Given the description of an element on the screen output the (x, y) to click on. 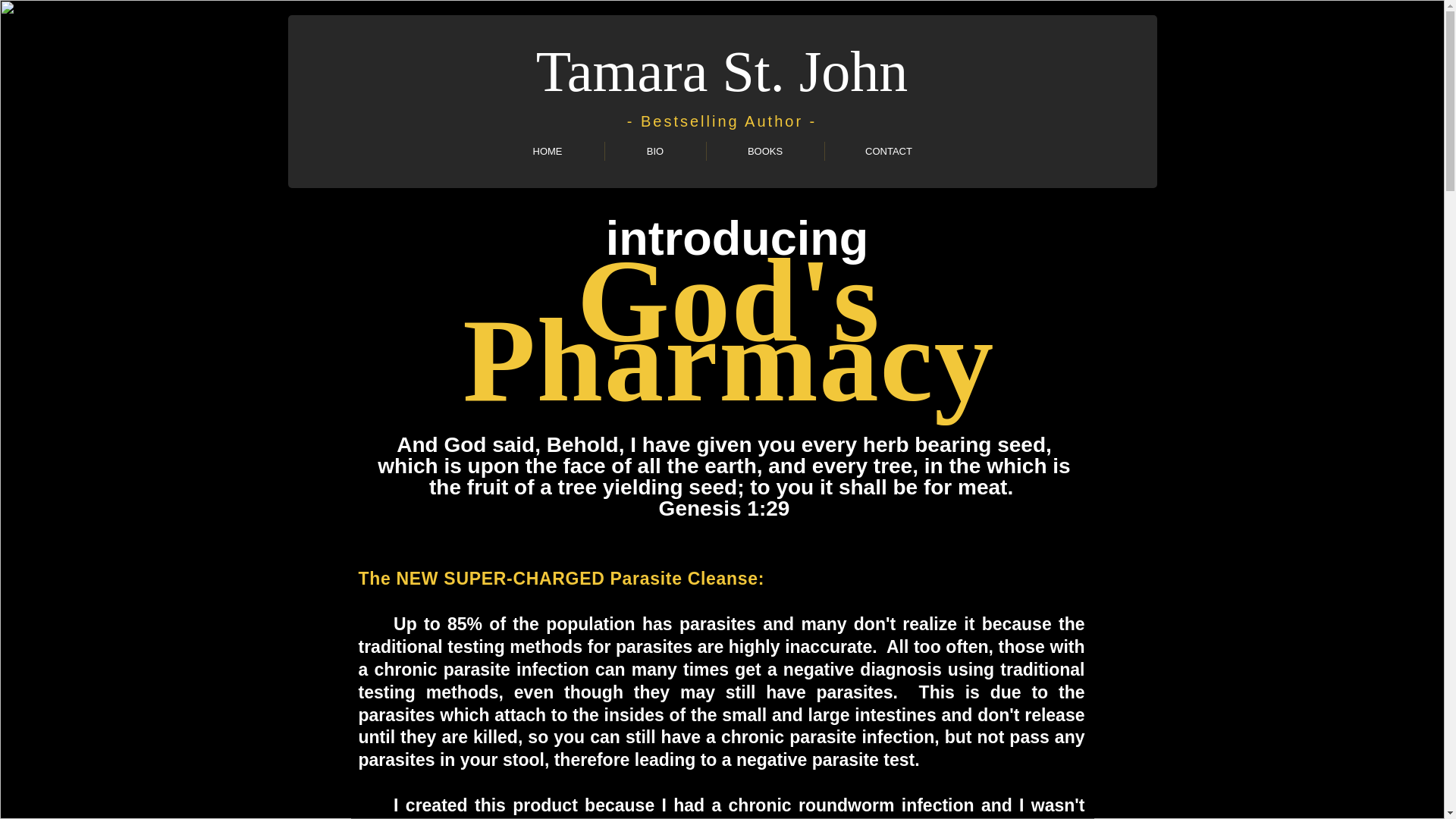
Tamara St. John (721, 71)
HOME (548, 150)
CONTACT (889, 150)
BIO (655, 150)
